Given the description of an element on the screen output the (x, y) to click on. 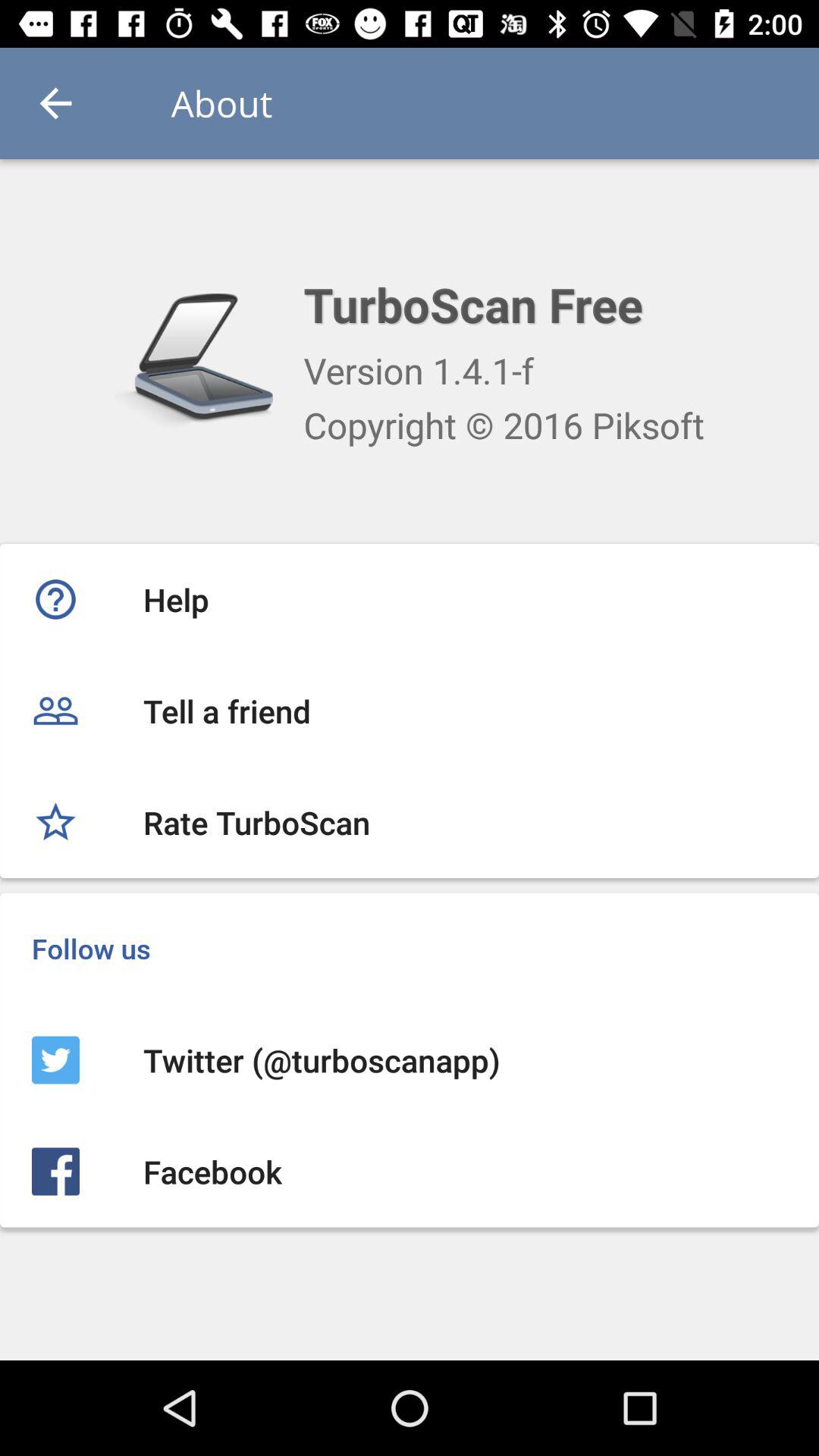
select the facebook icon (409, 1171)
